Given the description of an element on the screen output the (x, y) to click on. 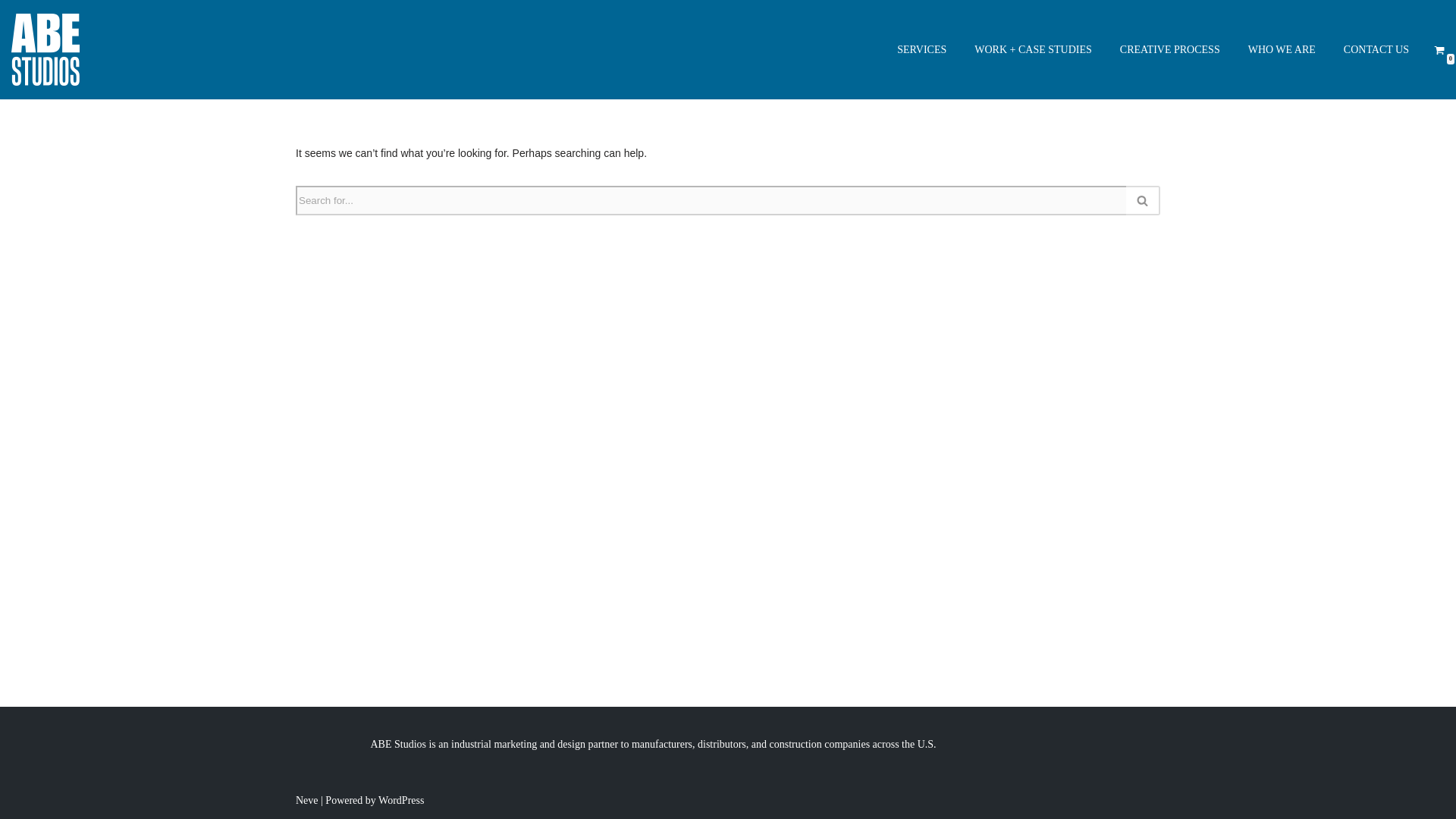
Skip to content (11, 31)
CREATIVE PROCESS (1169, 49)
CONTACT US (1376, 49)
WordPress (400, 799)
SERVICES (921, 49)
Neve (306, 799)
WHO WE ARE (1281, 49)
